Given the description of an element on the screen output the (x, y) to click on. 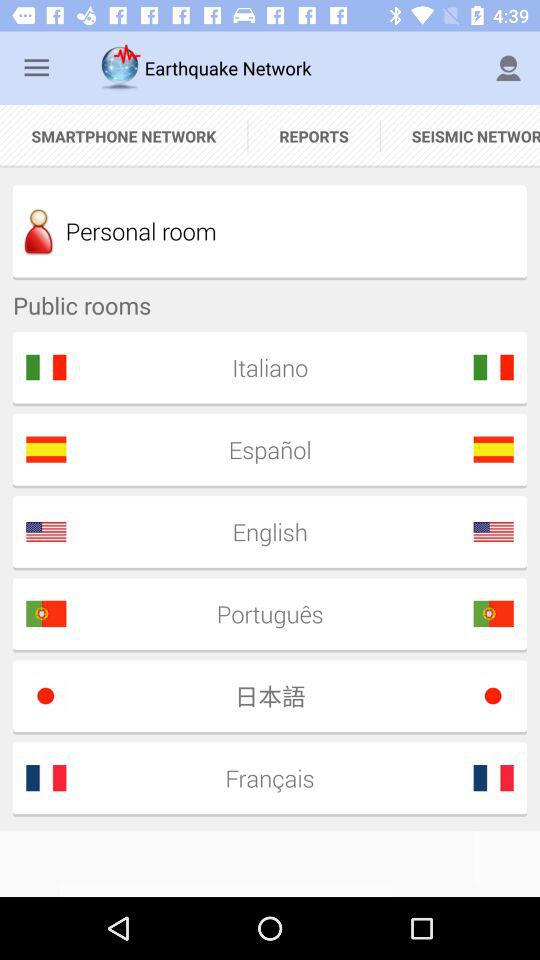
turn off item above the personal room (313, 136)
